Given the description of an element on the screen output the (x, y) to click on. 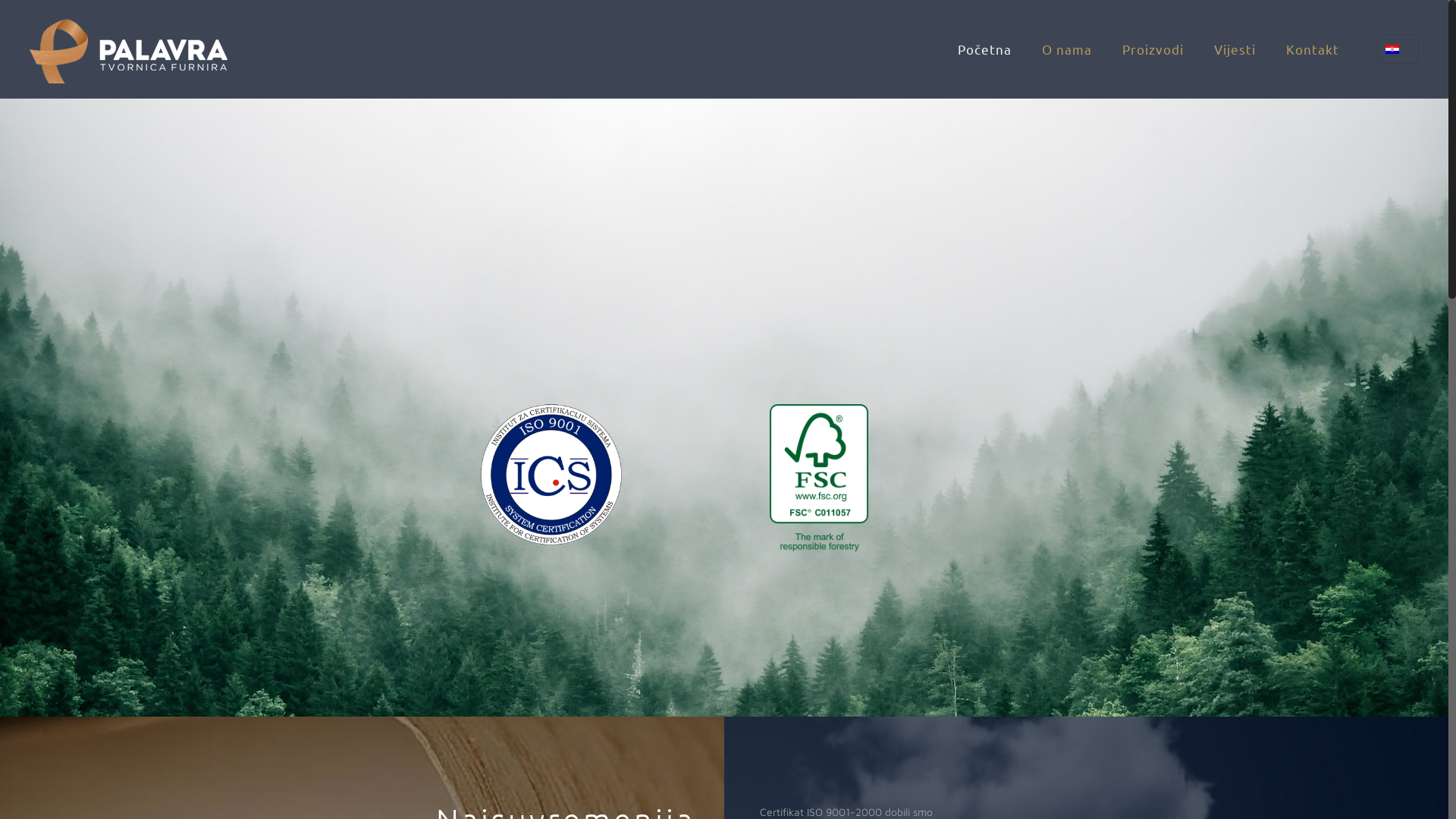
Proizvodi Element type: text (1152, 49)
Palavra Element type: hover (129, 49)
O nama Element type: text (1066, 49)
Kontakt Element type: text (1312, 49)
Vijesti Element type: text (1234, 49)
